Given the description of an element on the screen output the (x, y) to click on. 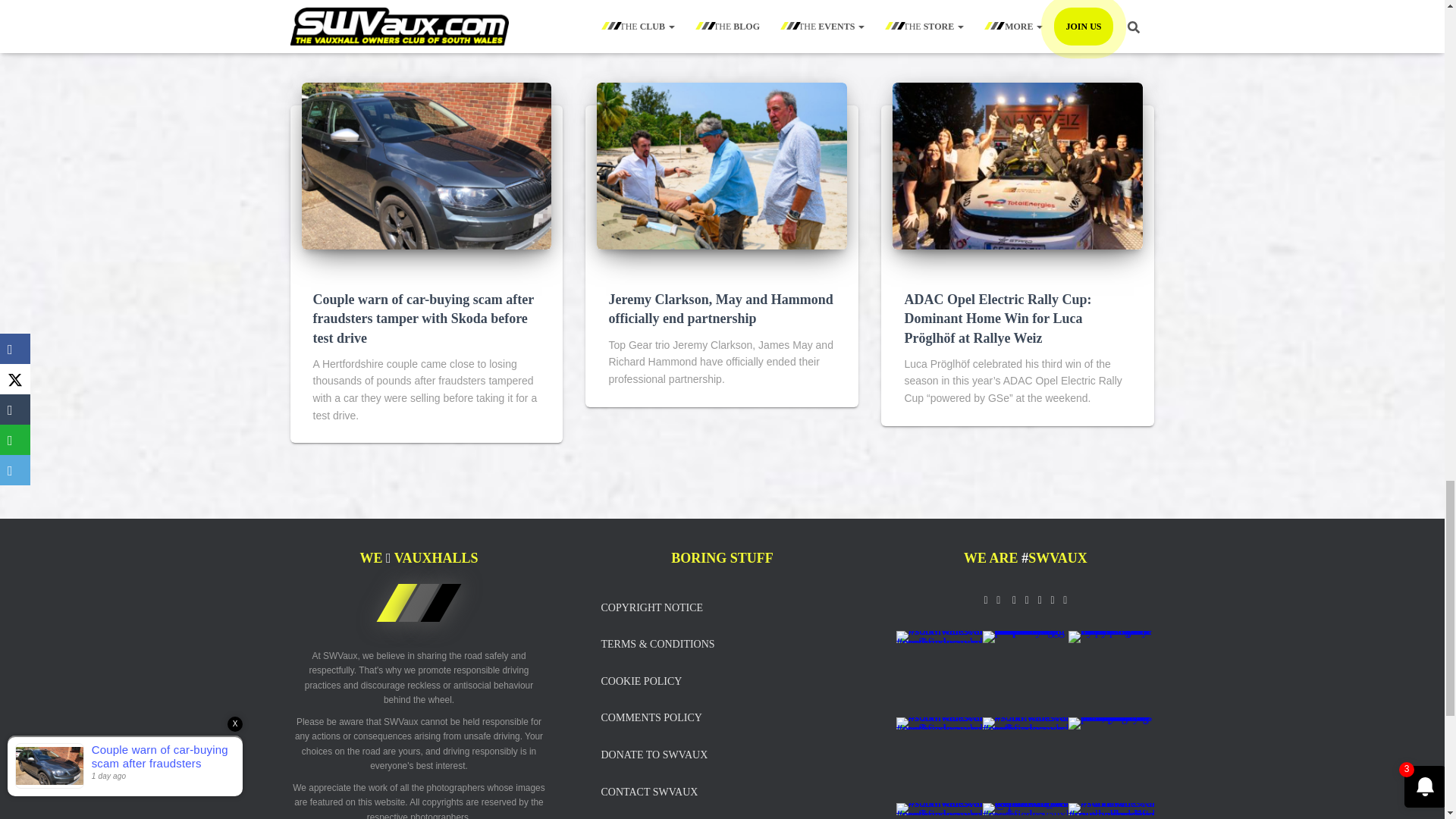
Jeremy Clarkson, May and Hammond officially end partnership (720, 308)
